Given the description of an element on the screen output the (x, y) to click on. 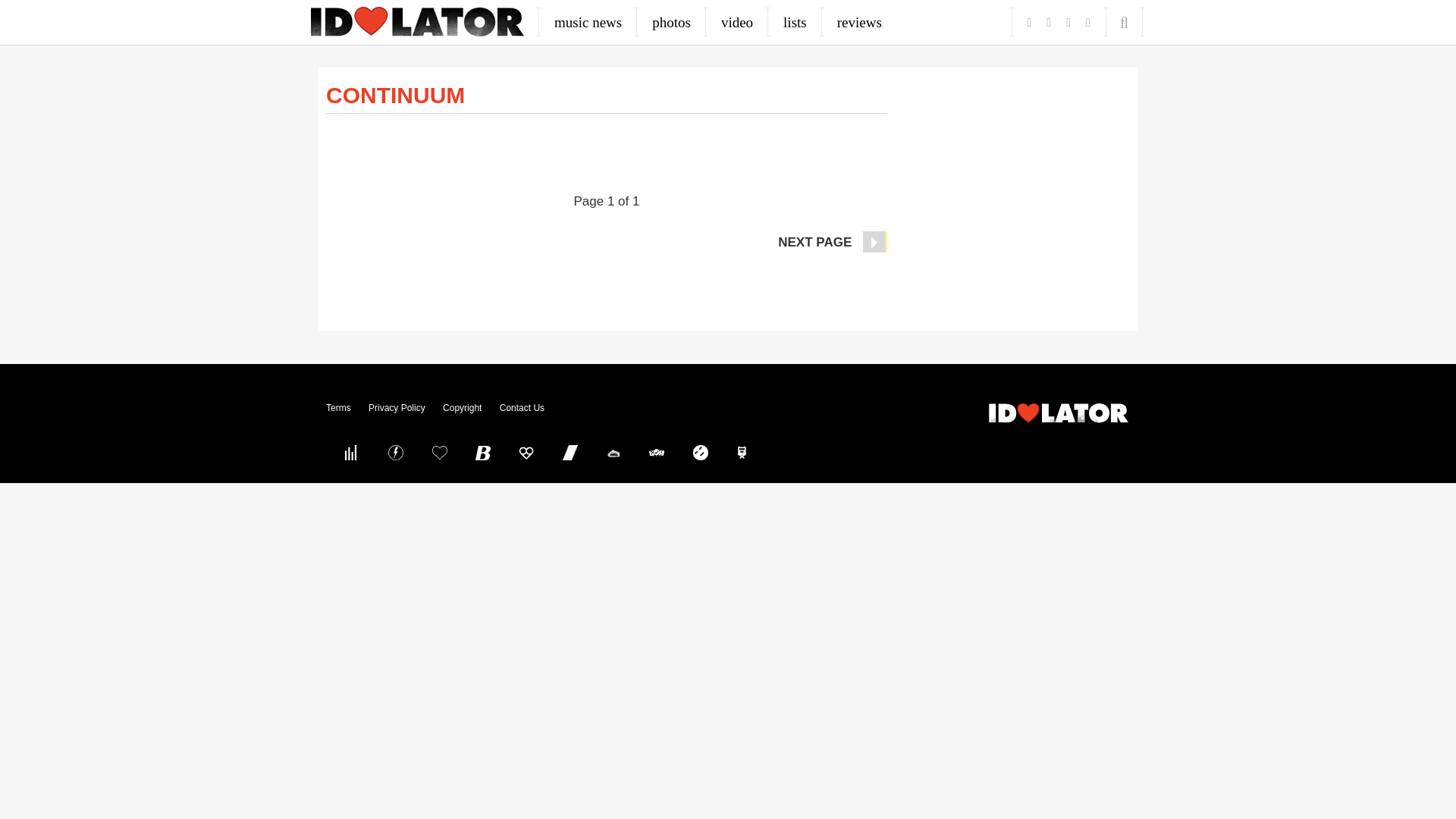
Daily Funny (699, 452)
music news (587, 22)
Contact Us (521, 407)
Privacy Policy (396, 407)
Quizscape (656, 452)
Explored Hollywood (743, 452)
Hooch (526, 452)
photos (671, 22)
reviews (859, 22)
Terms (338, 407)
BleacherBreaker (483, 452)
Taco Relish (612, 452)
Copyright (461, 407)
lists (795, 22)
Pure Volume (351, 452)
